Given the description of an element on the screen output the (x, y) to click on. 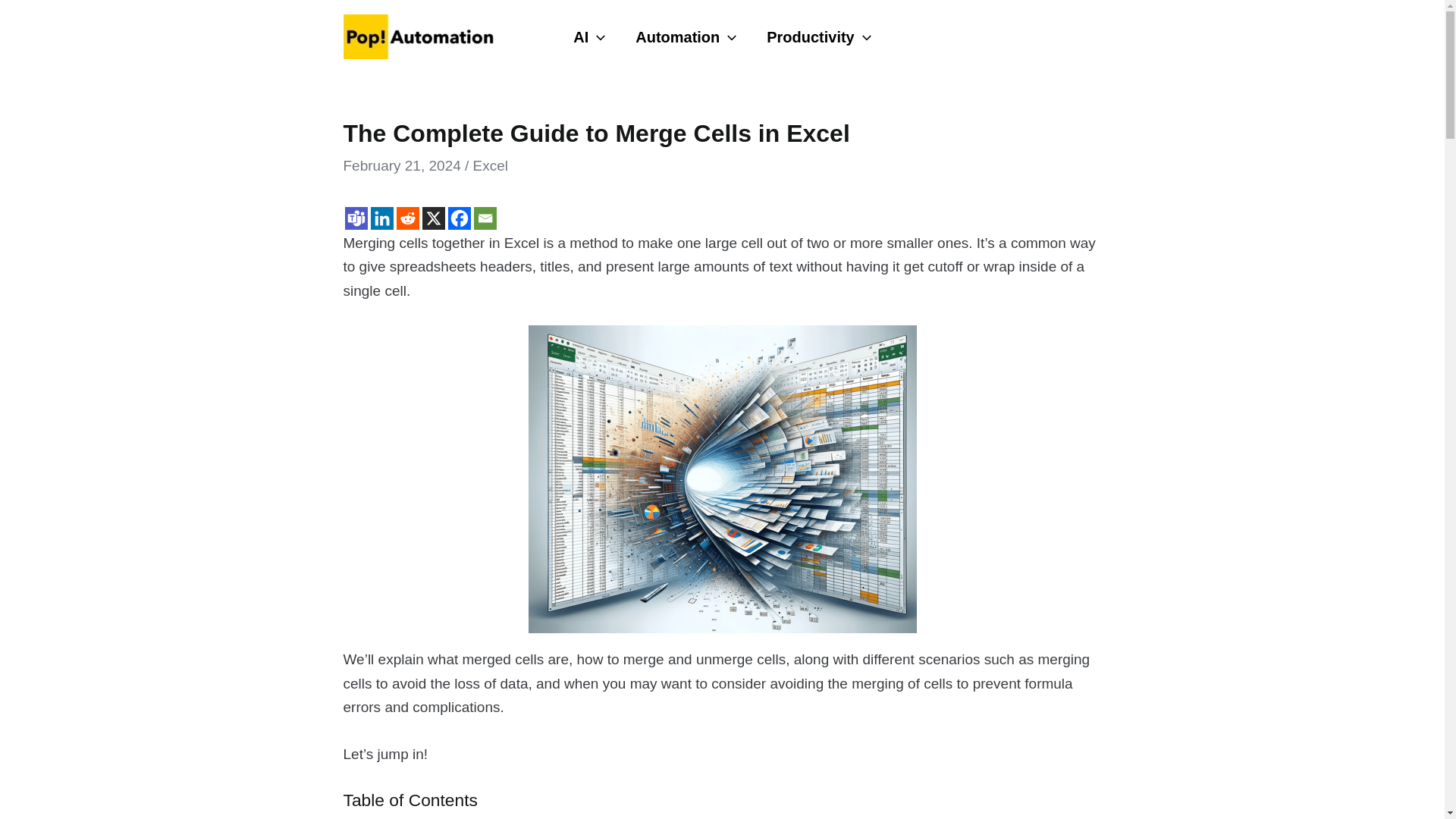
Automation (685, 35)
AI (588, 35)
X (433, 218)
Productivity (818, 35)
Reddit (407, 218)
Linkedin (381, 218)
Facebook (458, 218)
Teams (354, 218)
Email (484, 218)
Excel (490, 165)
